Given the description of an element on the screen output the (x, y) to click on. 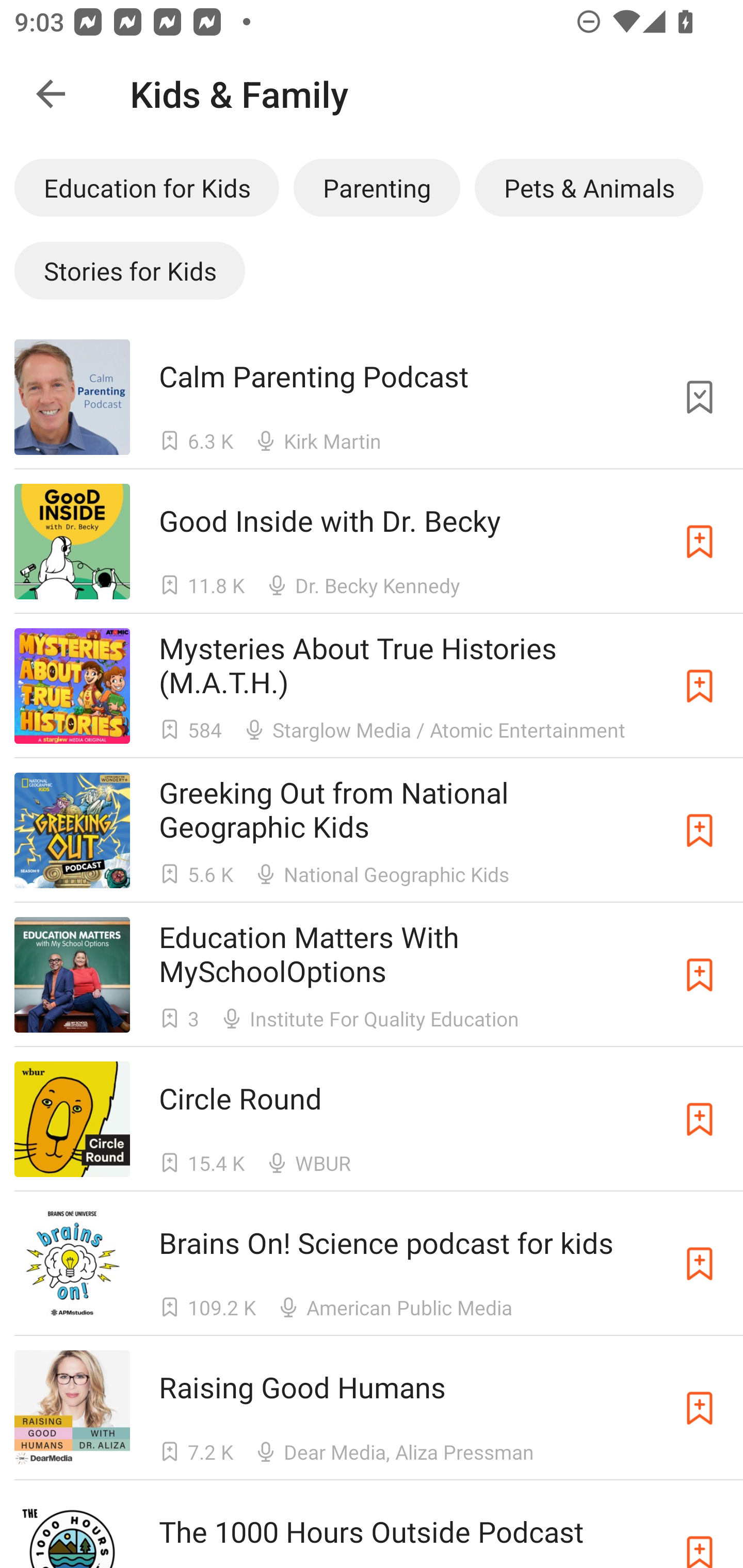
Navigate up (50, 93)
Education for Kids (146, 187)
Parenting (376, 187)
Pets & Animals (588, 187)
Stories for Kids (129, 270)
Unsubscribe (699, 396)
Subscribe (699, 541)
Subscribe (699, 685)
Subscribe (699, 830)
Subscribe (699, 975)
Subscribe (699, 1119)
Subscribe (699, 1263)
Subscribe (699, 1408)
Subscribe (699, 1531)
